Given the description of an element on the screen output the (x, y) to click on. 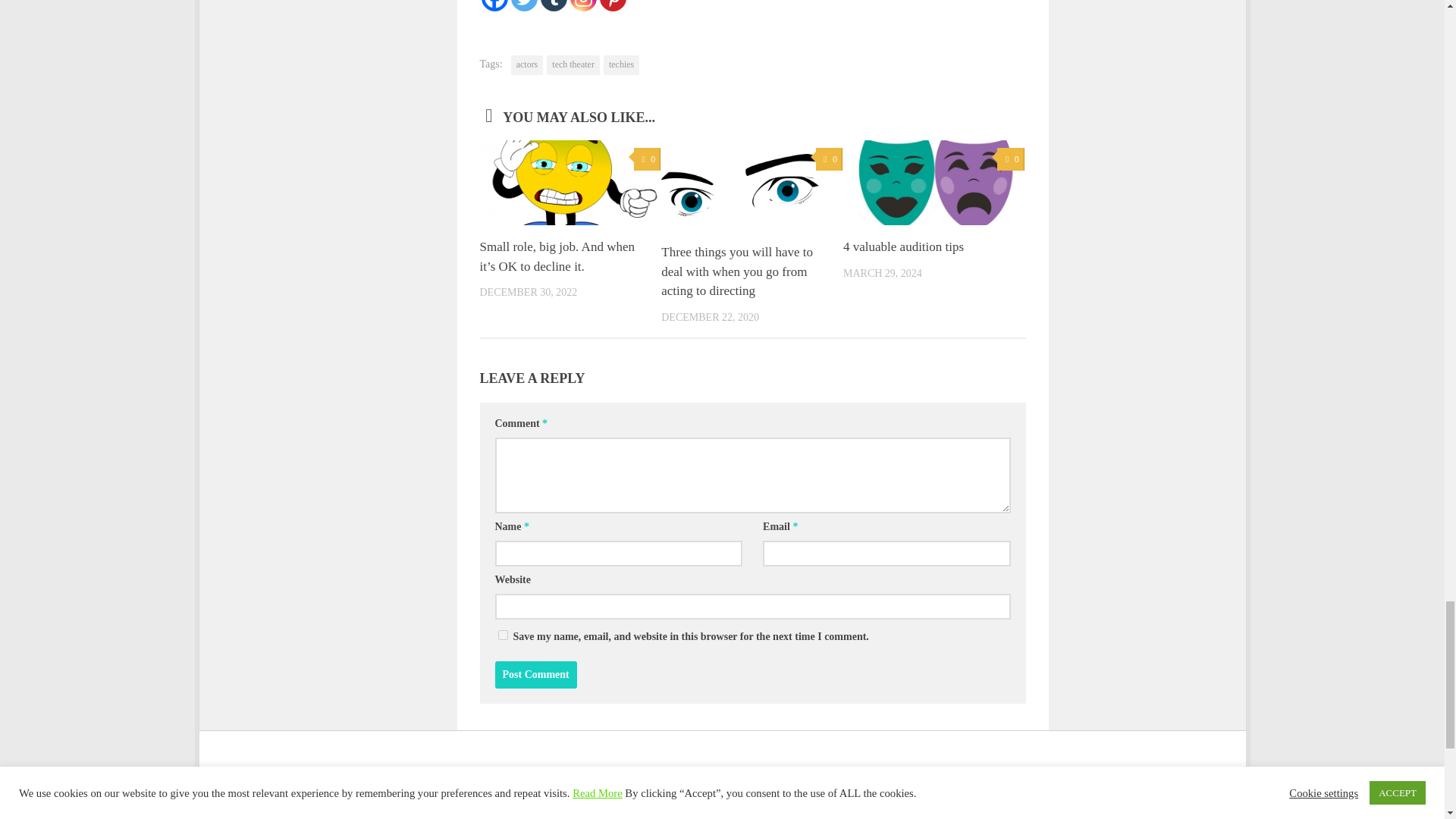
tech theater (573, 65)
0 (829, 159)
actors (527, 65)
Pinterest (612, 5)
Twitter (524, 5)
Tumblr (553, 5)
techies (621, 65)
yes (501, 634)
